Given the description of an element on the screen output the (x, y) to click on. 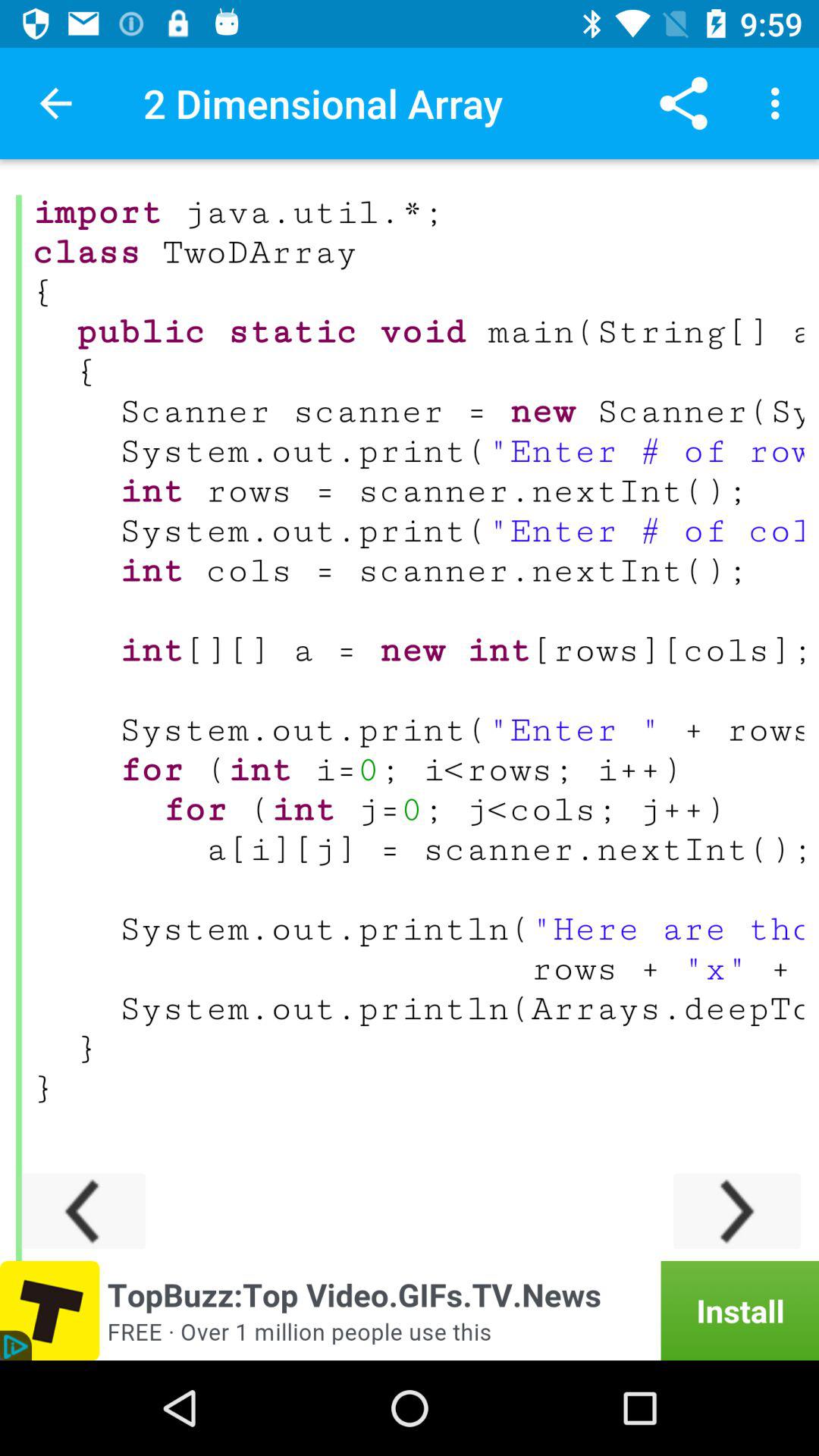
next page (736, 1210)
